Given the description of an element on the screen output the (x, y) to click on. 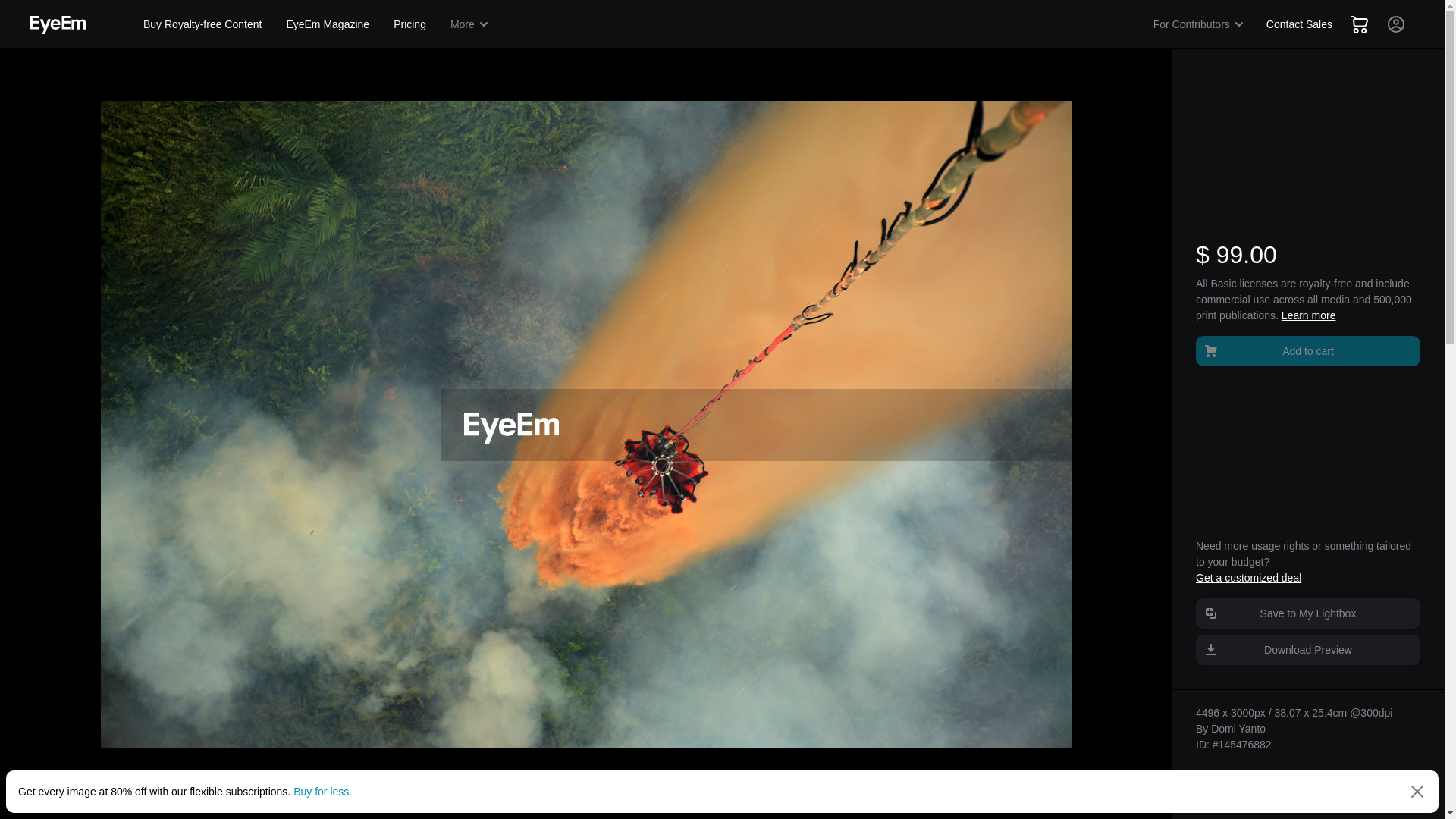
Add to cart (1308, 349)
More (470, 24)
Cart (1358, 24)
By Domi Yanto (1230, 727)
Download Preview (1308, 649)
Pricing (409, 24)
Buy Royalty-free Content (201, 24)
Save to My Lightbox (1308, 613)
For Contributors (1198, 24)
Buy for less. (323, 791)
